Given the description of an element on the screen output the (x, y) to click on. 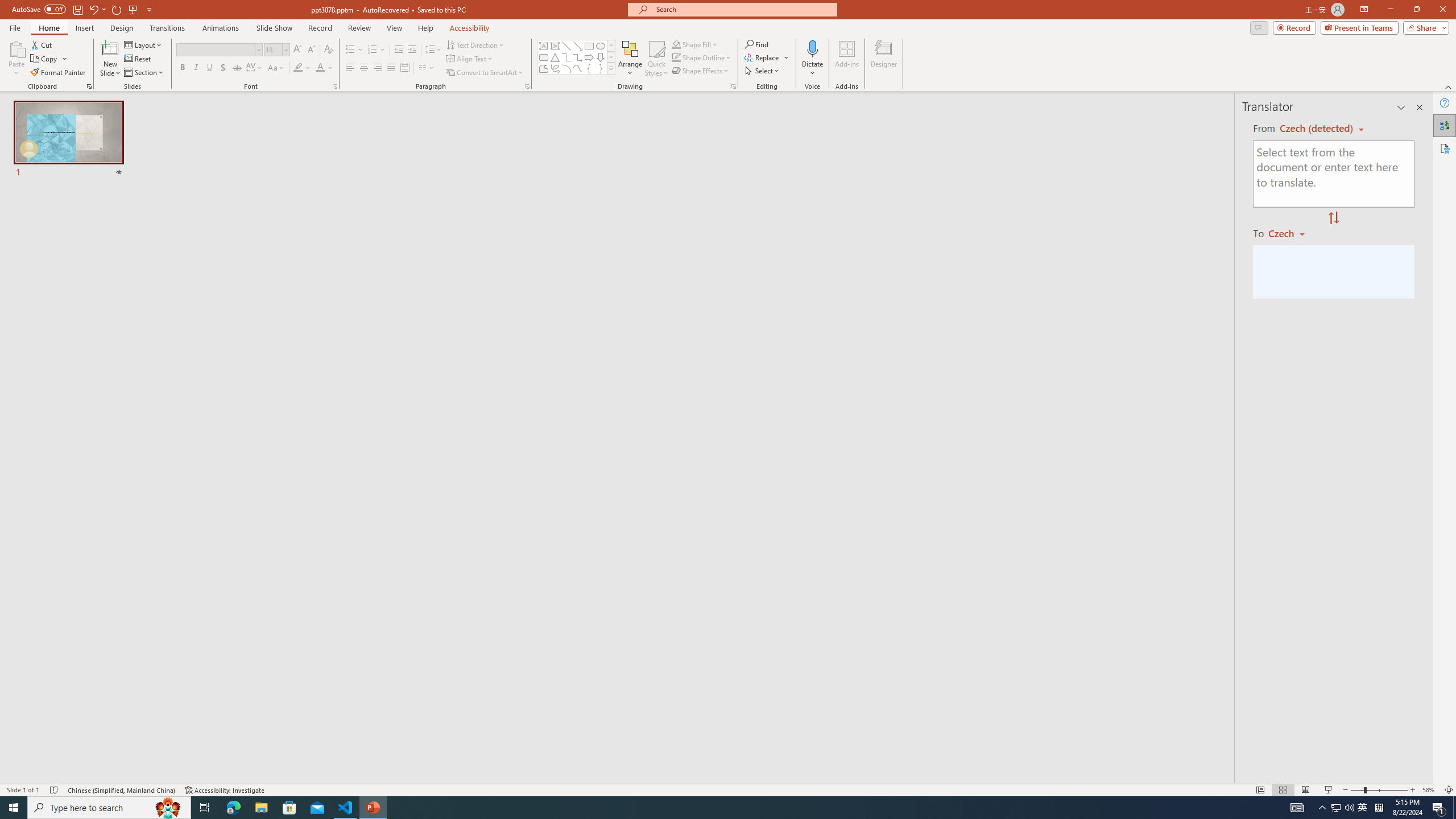
Zoom 58% (1430, 790)
